Given the description of an element on the screen output the (x, y) to click on. 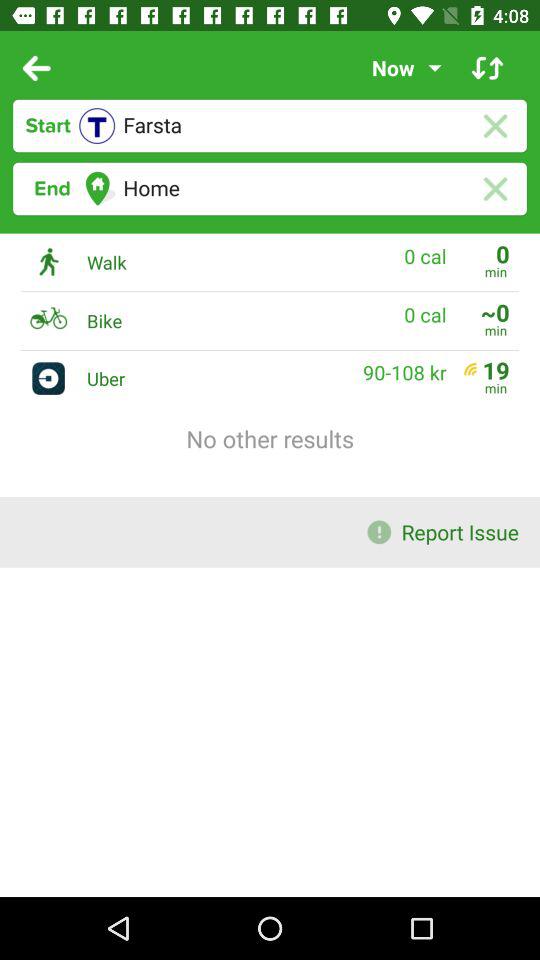
cancel end location (494, 188)
